Given the description of an element on the screen output the (x, y) to click on. 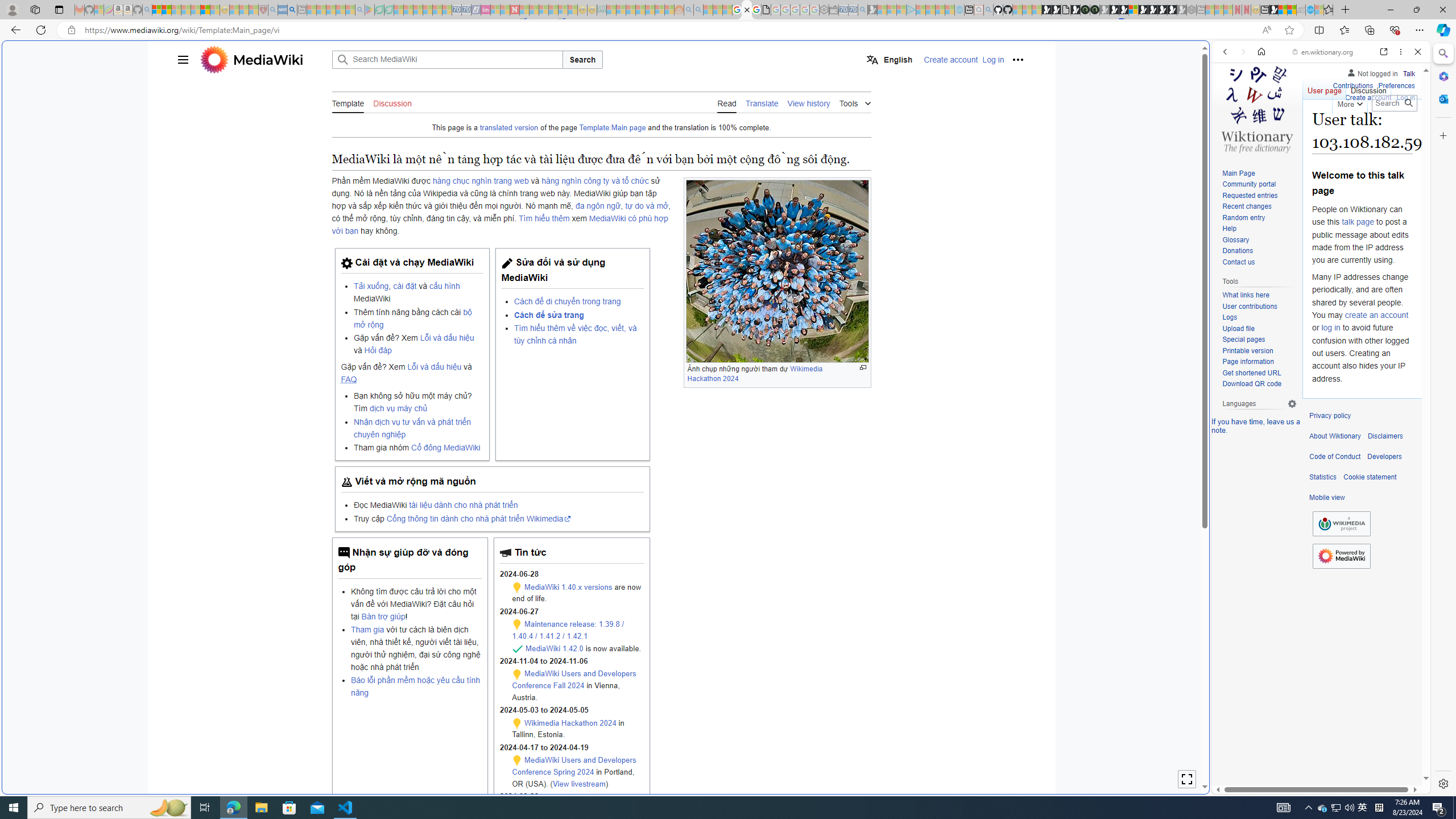
Recent changes (1246, 206)
Log in (1405, 96)
Main Page (1238, 172)
Wiktionary (1315, 380)
Logs (1259, 317)
Search or enter web address (922, 108)
Search Wiktionary (1393, 103)
